Given the description of an element on the screen output the (x, y) to click on. 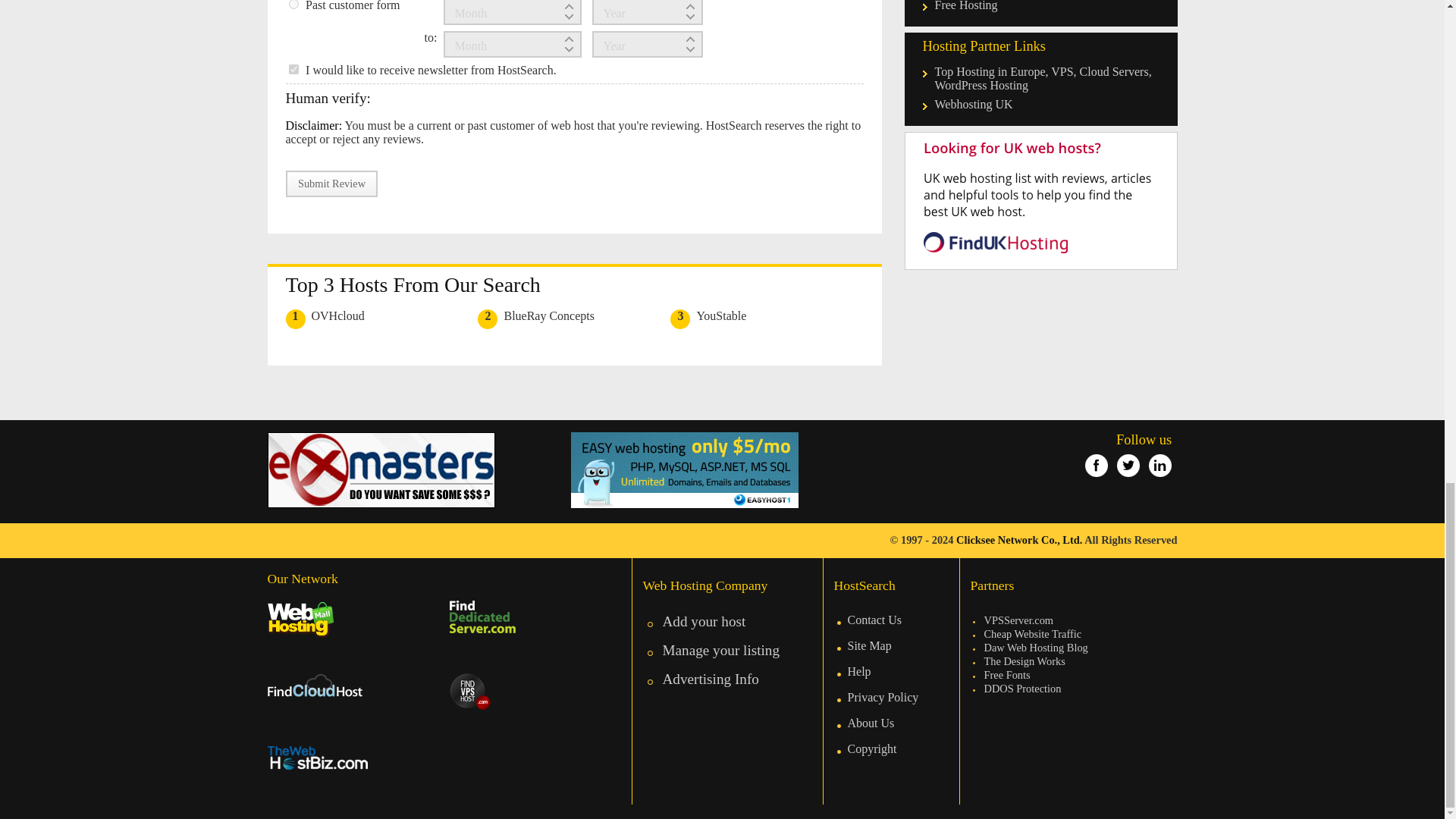
0 (293, 4)
1 (293, 69)
